Given the description of an element on the screen output the (x, y) to click on. 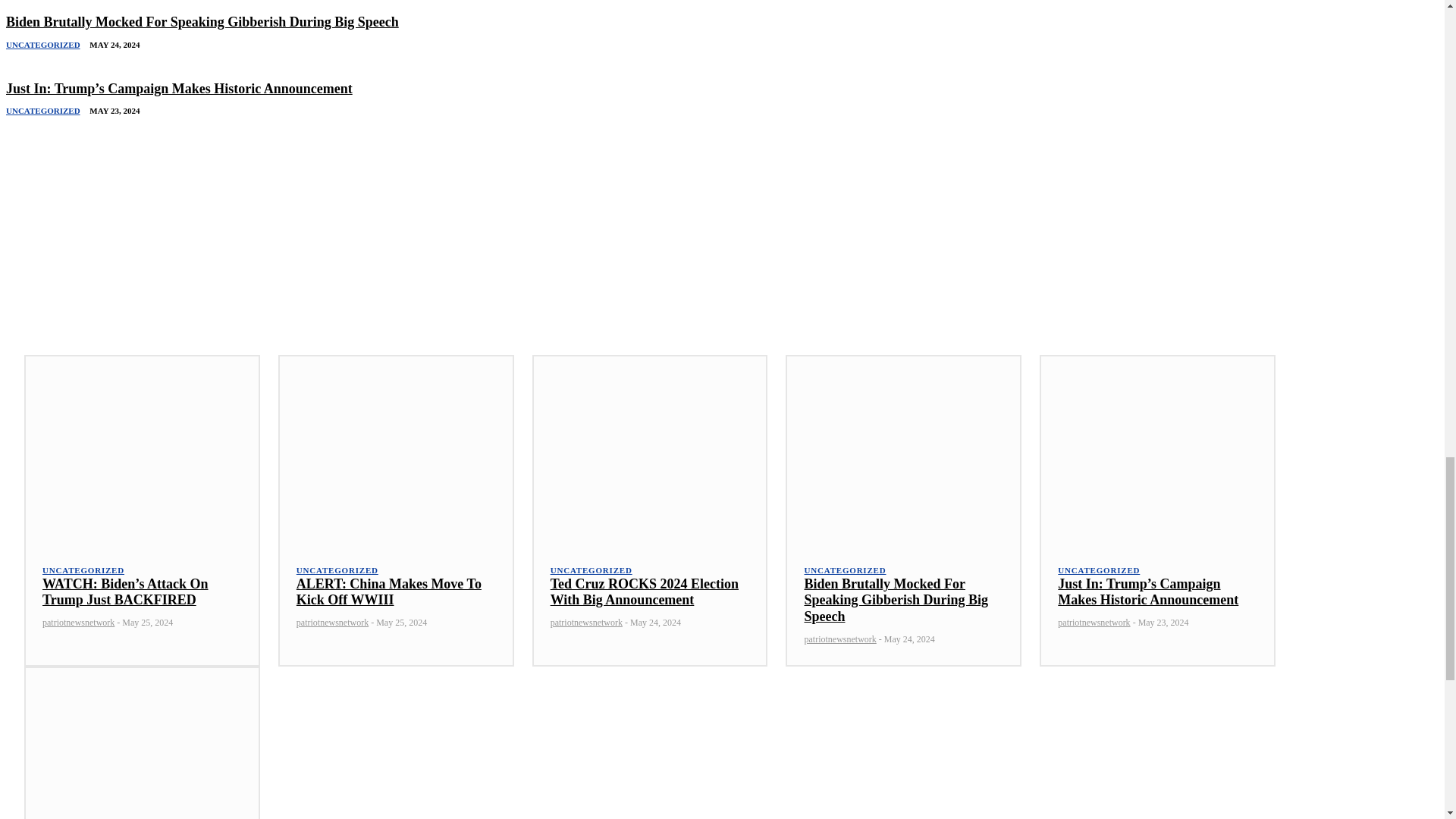
Ted Cruz ROCKS 2024 Election With Big Announcement (644, 592)
Ted Cruz ROCKS 2024 Election With Big Announcement (644, 592)
UNCATEGORIZED (590, 569)
UNCATEGORIZED (42, 110)
UNCATEGORIZED (82, 569)
UNCATEGORIZED (42, 44)
patriotnewsnetwork (332, 622)
ALERT: China Makes Move To Kick Off WWIII (389, 592)
